Given the description of an element on the screen output the (x, y) to click on. 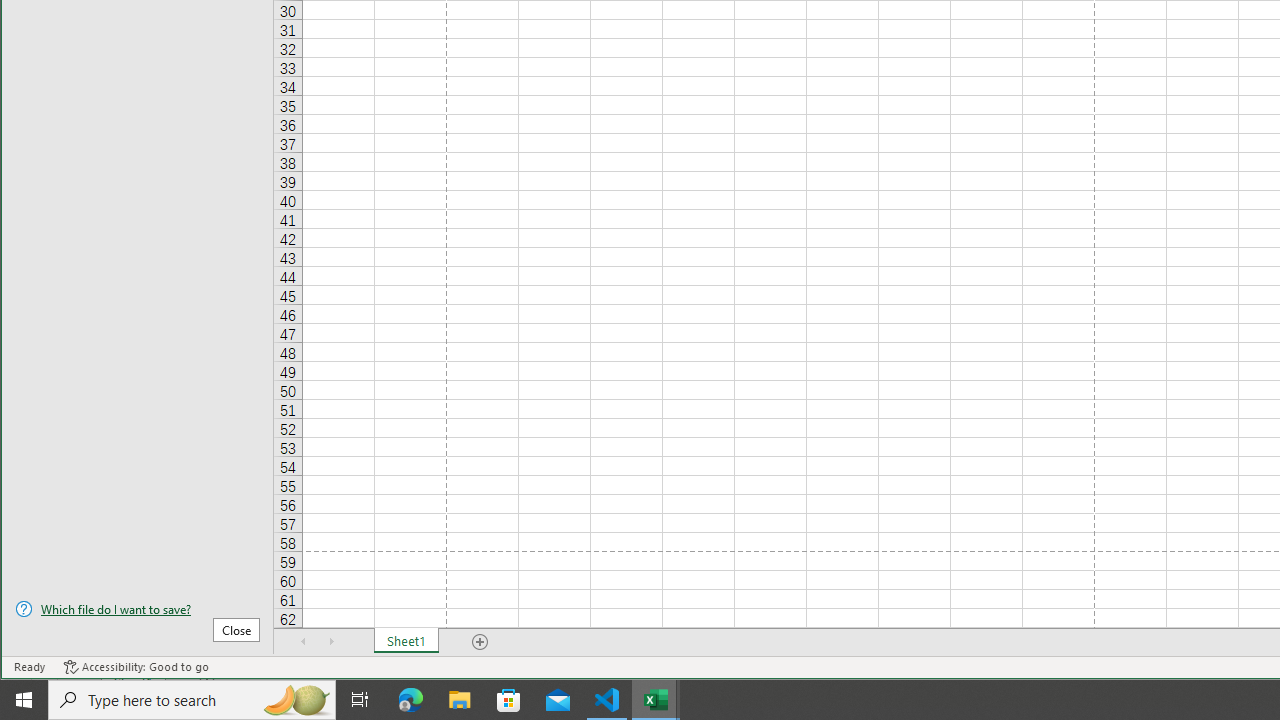
Sheet1 (406, 641)
